Given the description of an element on the screen output the (x, y) to click on. 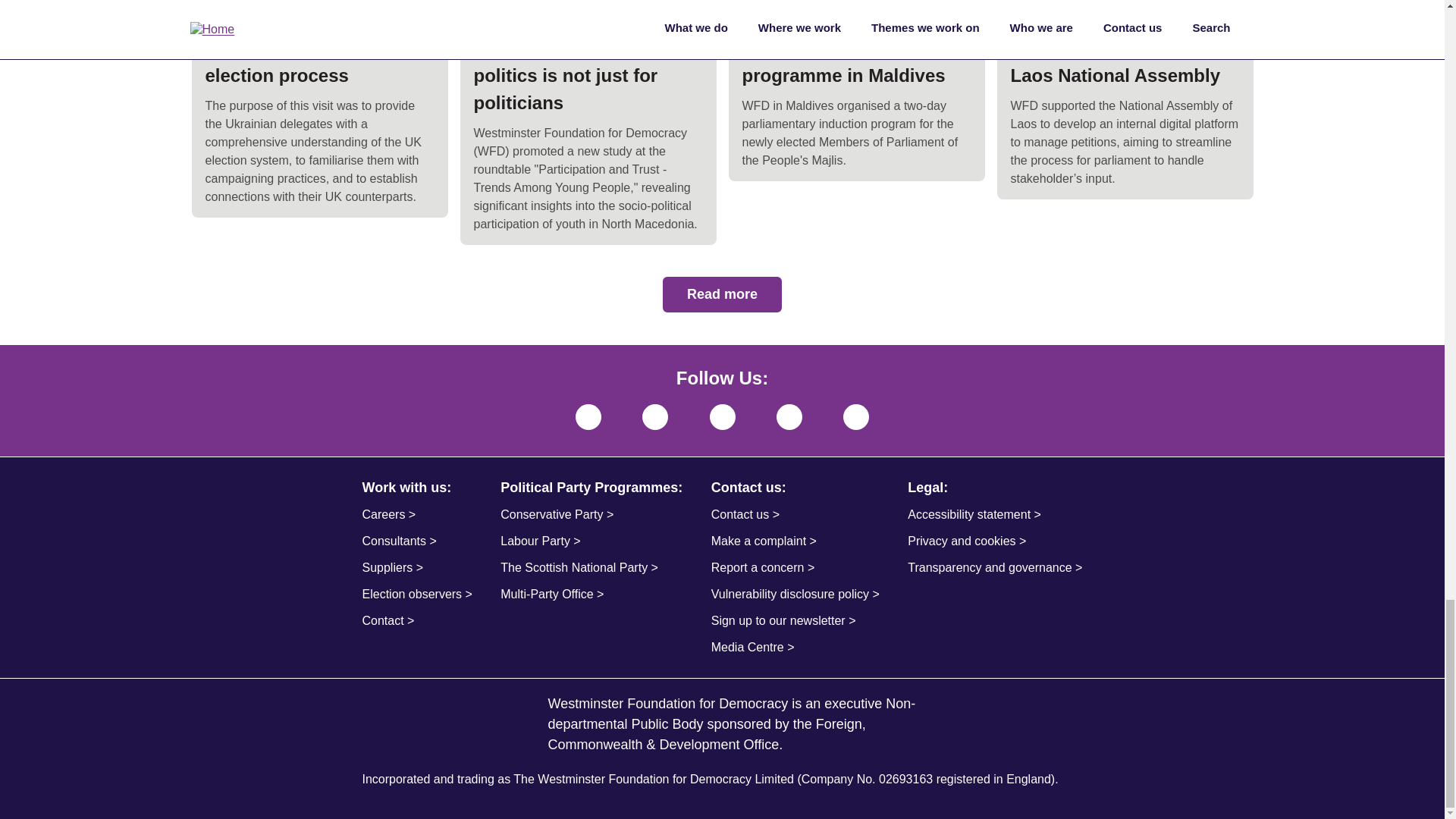
Youtube (722, 416)
Find out how to make a complaint about our work (795, 540)
Twitter (789, 416)
Instagram (655, 416)
LinkedIn (588, 416)
Facebook (856, 416)
